Given the description of an element on the screen output the (x, y) to click on. 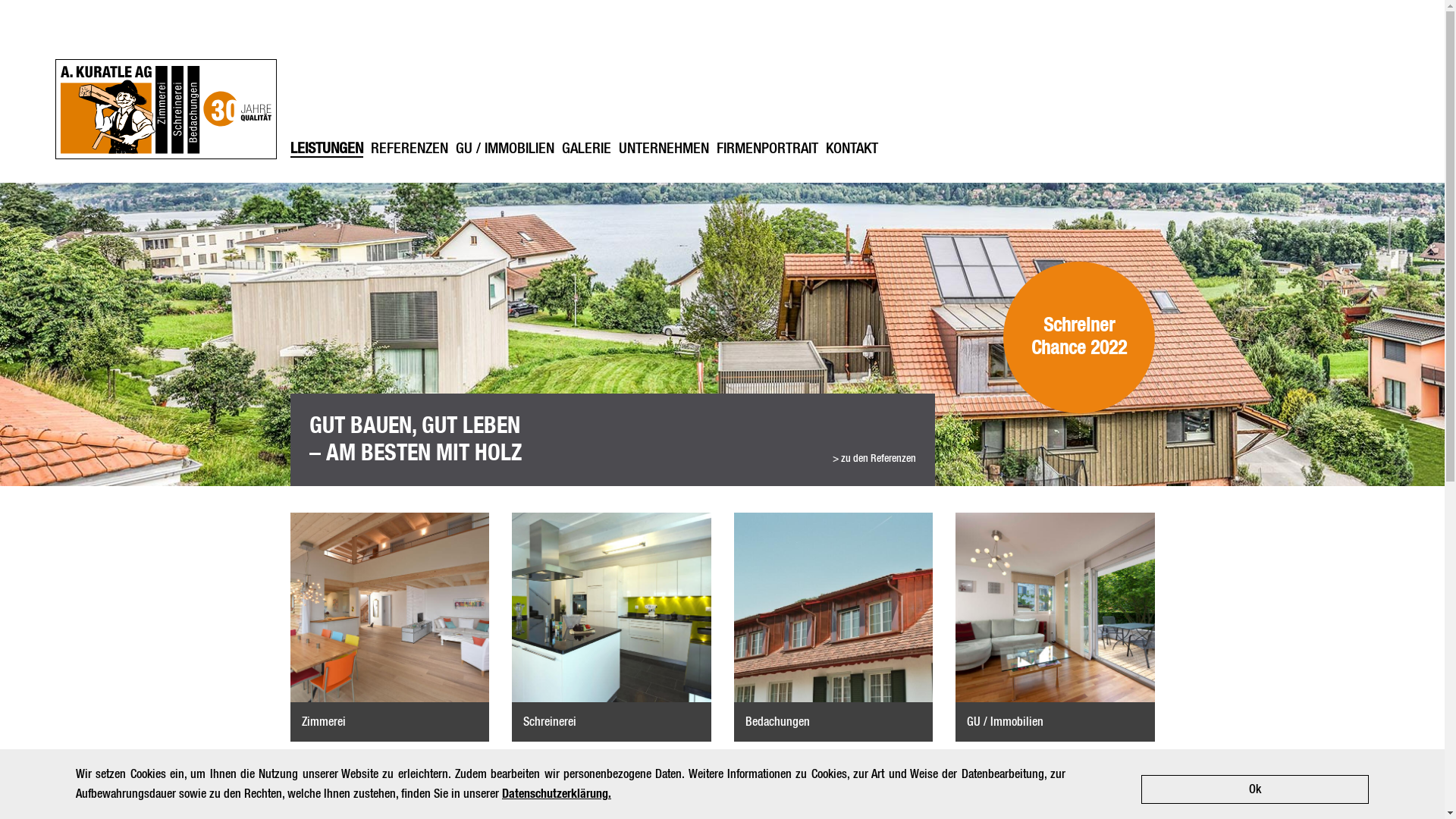
UNTERNEHMEN Element type: text (663, 149)
Zimmerei Element type: text (389, 626)
REFERENZEN Element type: text (408, 149)
Bedachungen Element type: text (833, 626)
LEISTUNGEN Element type: text (325, 149)
GU / Immobilien Element type: text (1054, 626)
KONTAKT Element type: text (851, 149)
FIRMENPORTRAIT Element type: text (766, 149)
Schreinerei Element type: text (611, 626)
GALERIE Element type: text (585, 149)
zu den Referenzen Element type: text (874, 458)
GU / IMMOBILIEN Element type: text (504, 149)
